Given the description of an element on the screen output the (x, y) to click on. 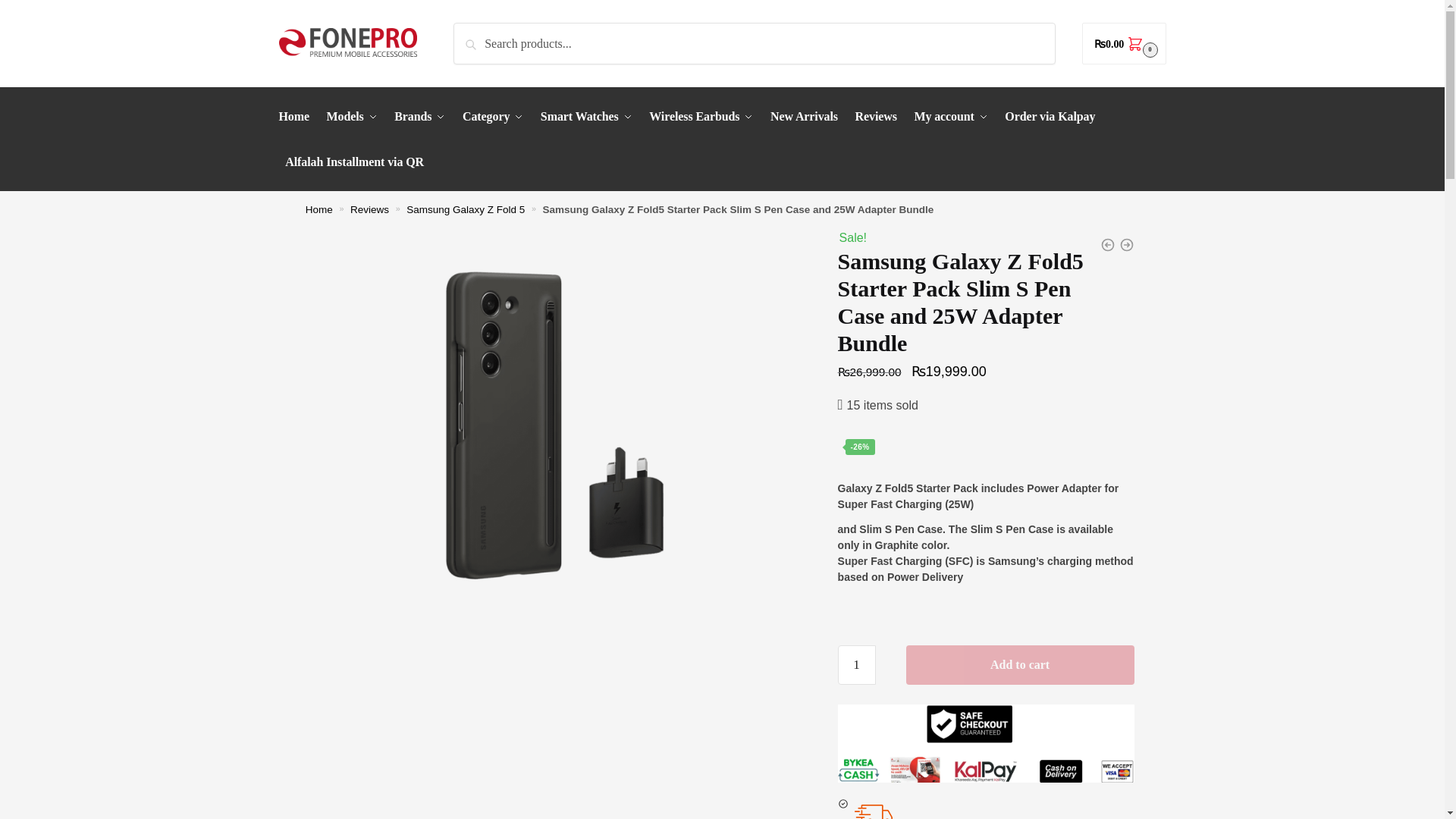
View your shopping cart (1123, 43)
Models (352, 116)
1 (857, 664)
Search (474, 33)
